Given the description of an element on the screen output the (x, y) to click on. 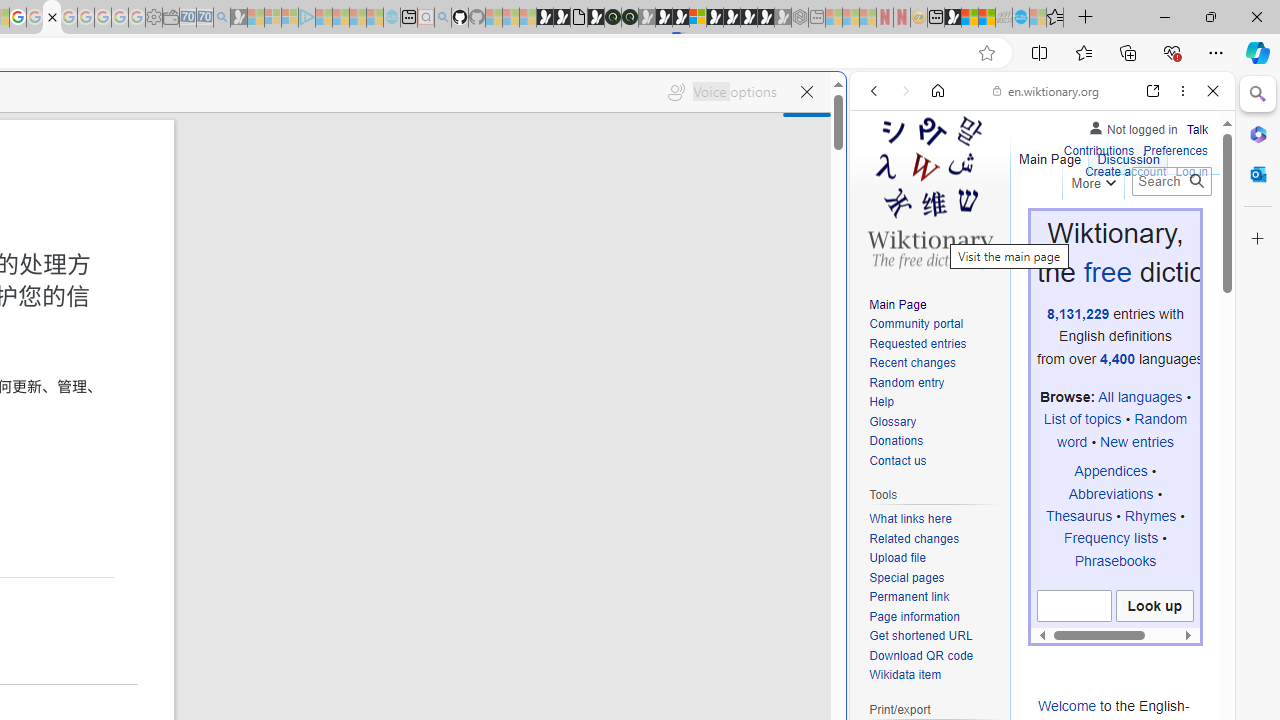
Welcome (1067, 705)
More (1092, 179)
Not logged in (1132, 126)
Services - Maintenance | Sky Blue Bikes - Sky Blue Bikes (1020, 17)
Wikidata item (905, 675)
Upload file (897, 557)
Related changes (934, 539)
Related changes (914, 538)
